Given the description of an element on the screen output the (x, y) to click on. 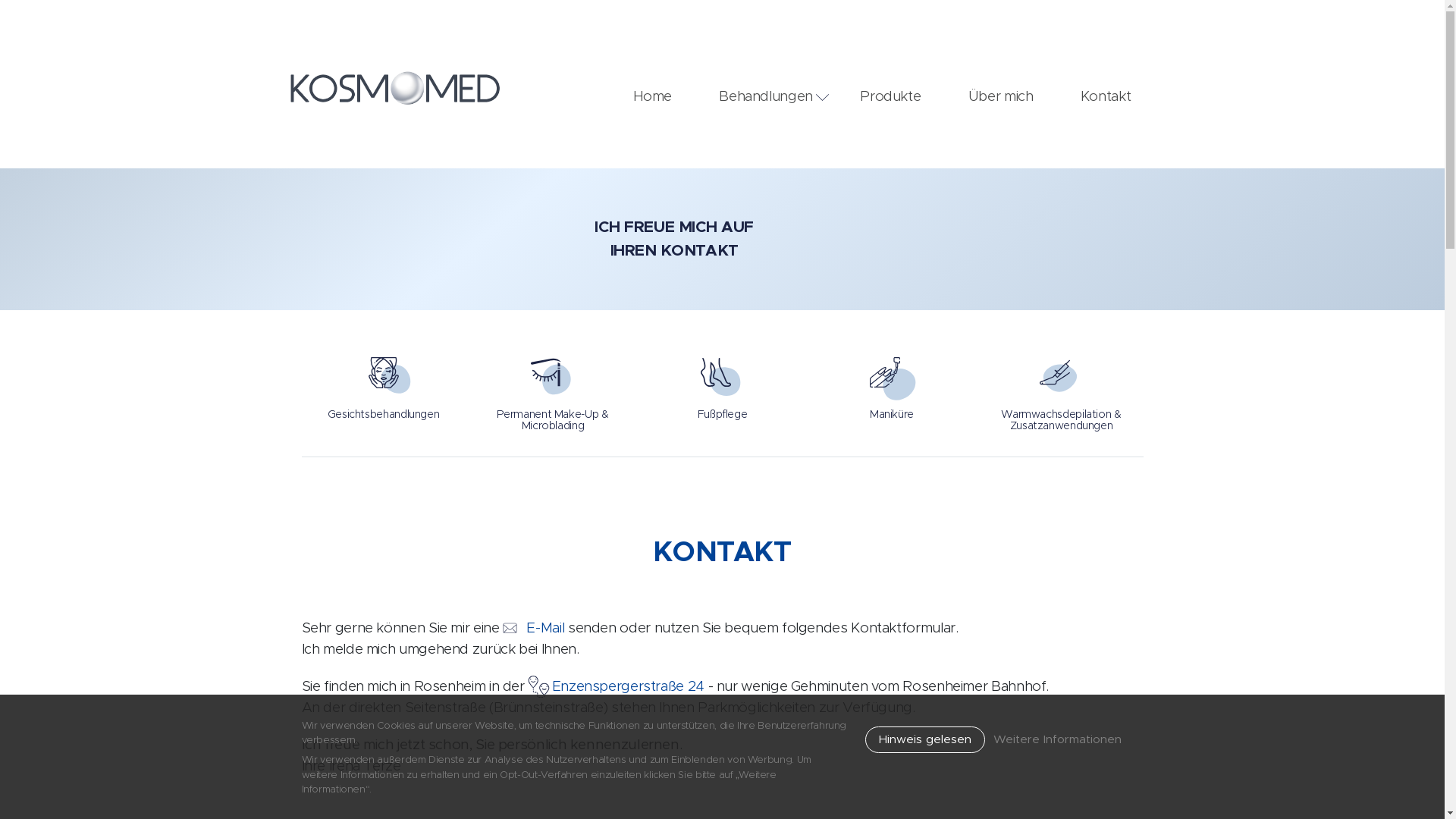
Produkte Element type: text (890, 93)
E-Mail Element type: text (533, 628)
Startseite Element type: hover (397, 88)
Weitere Informationen Element type: text (1057, 738)
Gesichtsbehandlungen Element type: text (383, 383)
Hinweis gelesen Element type: text (925, 739)
Direkt zum Inhalt Element type: text (0, 0)
Permanent Make-Up & Microblading Element type: text (552, 383)
Home Element type: text (652, 93)
Warmwachsdepilation & Zusatzanwendungen Element type: text (1061, 383)
Kontakt Element type: text (1105, 93)
